Given the description of an element on the screen output the (x, y) to click on. 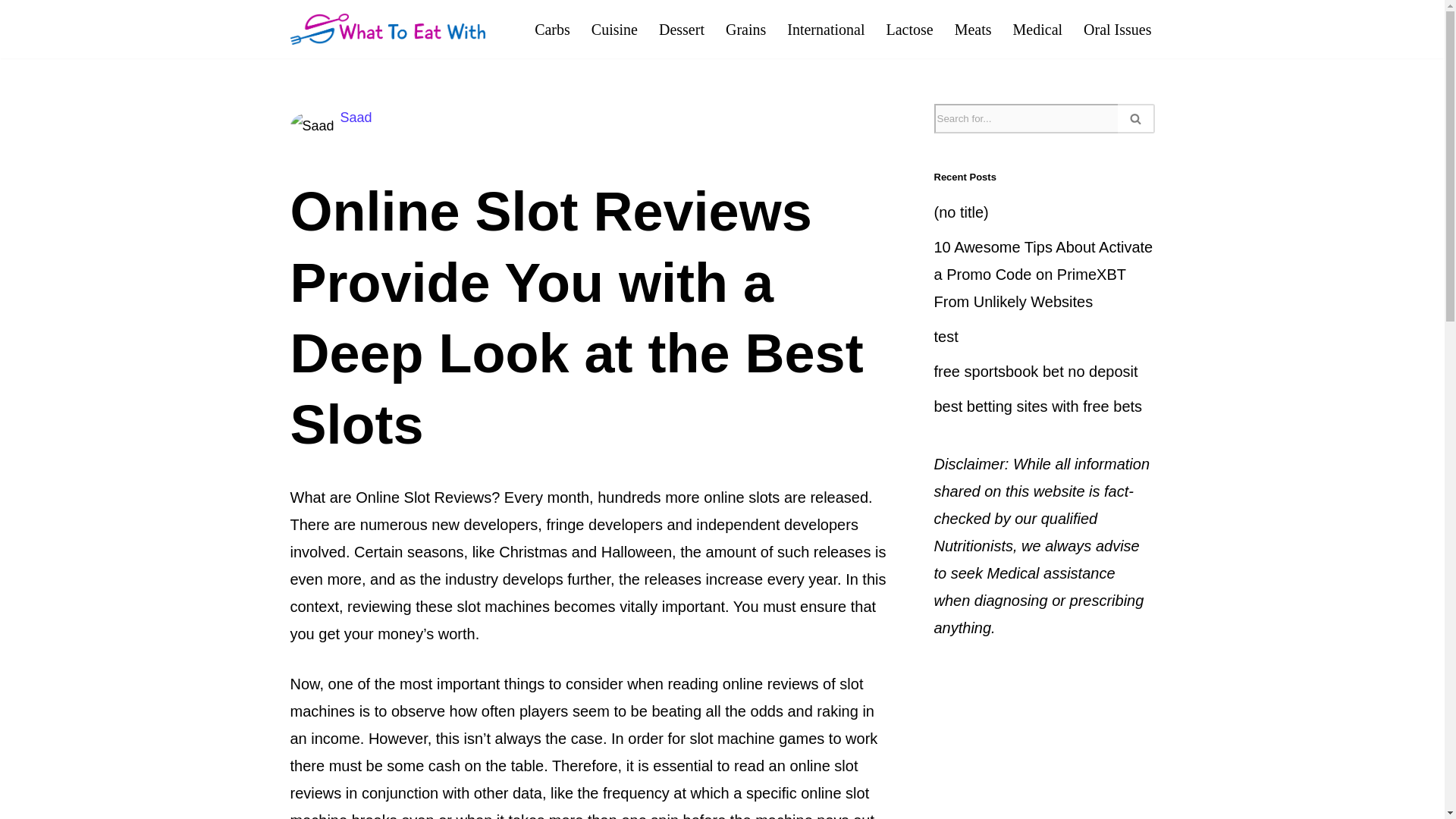
Skip to content (11, 31)
Oral Issues (1117, 28)
free sportsbook bet no deposit (1036, 371)
Posts by Saad (356, 117)
Meats (973, 28)
Medical (1037, 28)
Dessert (681, 28)
best betting sites with free bets (1038, 406)
Saad (356, 117)
International (825, 28)
